Given the description of an element on the screen output the (x, y) to click on. 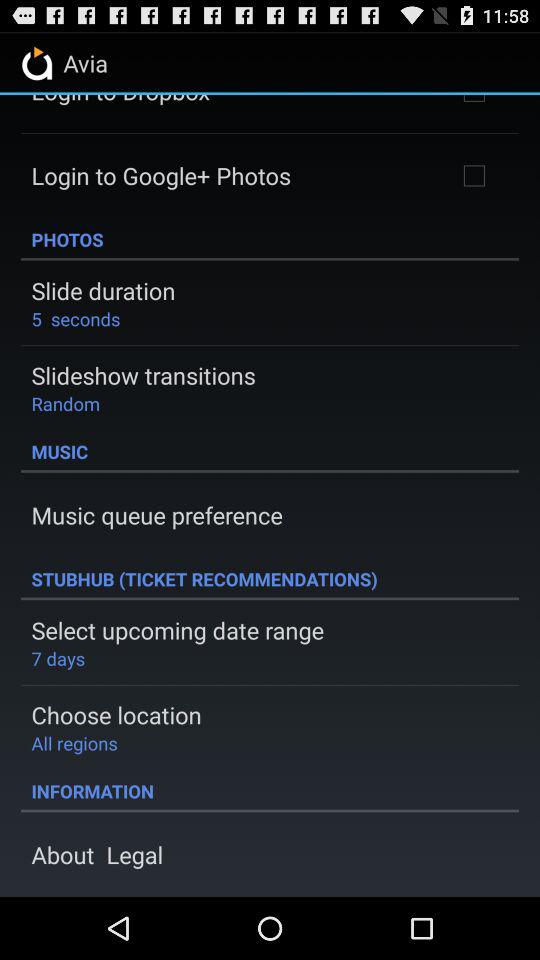
click item above choose location item (58, 658)
